Given the description of an element on the screen output the (x, y) to click on. 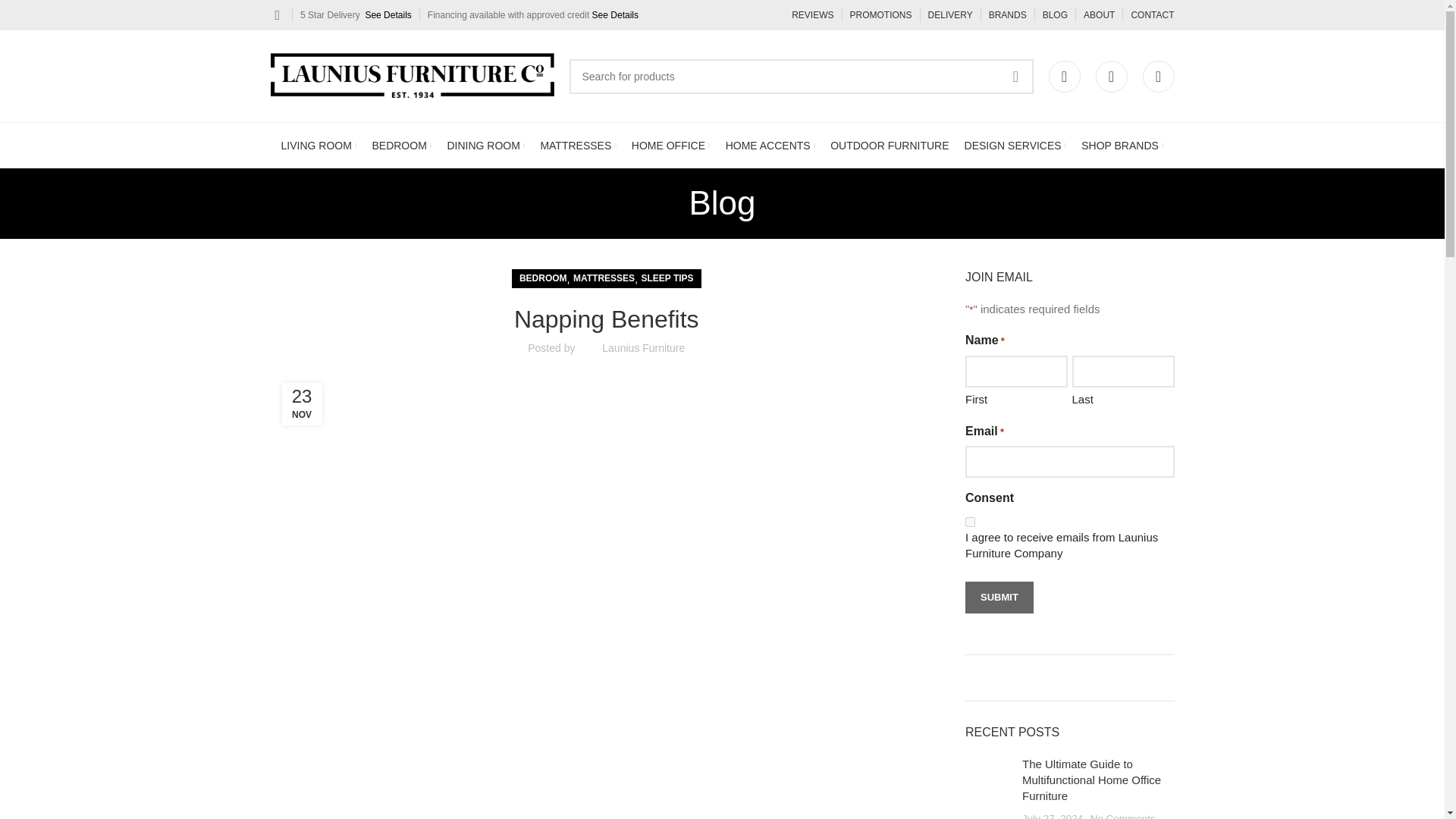
My account (1064, 75)
Compare products (1157, 75)
BEDROOM (400, 145)
See Details (615, 14)
BRANDS (1007, 15)
Search for products (800, 76)
LIVING ROOM (318, 145)
REVIEWS (812, 15)
ABOUT (1099, 15)
